Given the description of an element on the screen output the (x, y) to click on. 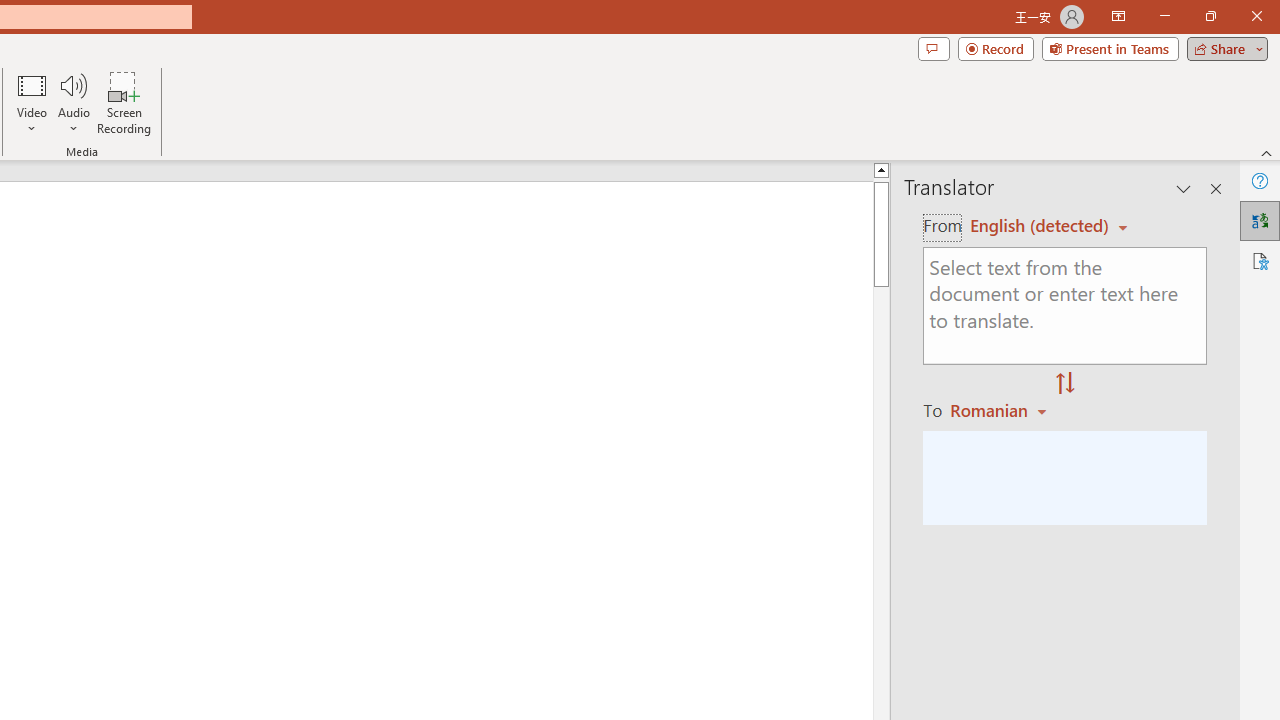
Screen Recording... (123, 102)
